Given the description of an element on the screen output the (x, y) to click on. 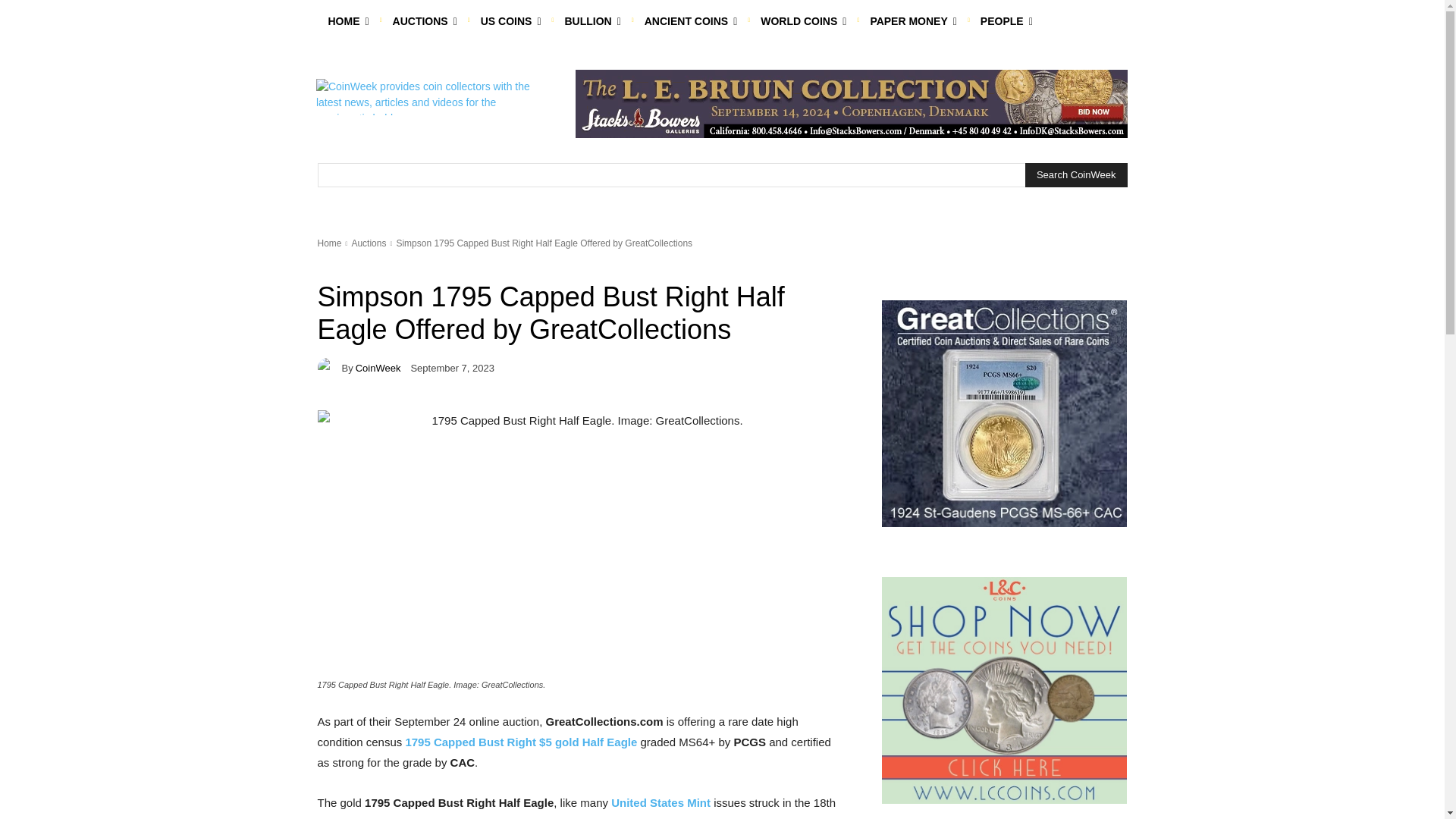
CoinWeek (328, 367)
AUCTIONS (424, 21)
View all posts in Auctions (367, 243)
HOME (347, 21)
